Given the description of an element on the screen output the (x, y) to click on. 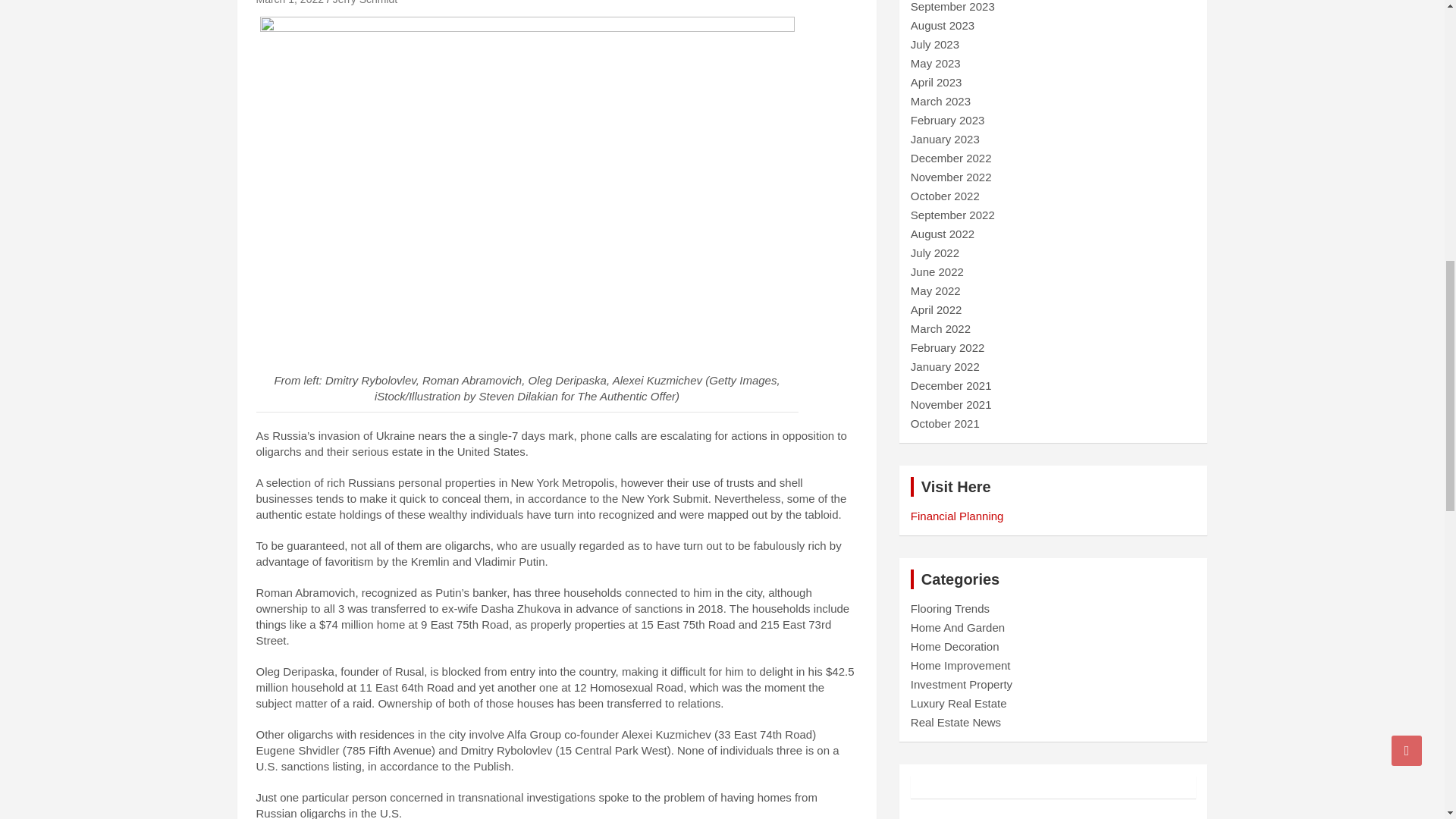
March 1, 2022 (290, 2)
Where Wealthy Russians Own Real Estate in New York City (290, 2)
Jerry Schmidt (365, 2)
